Given the description of an element on the screen output the (x, y) to click on. 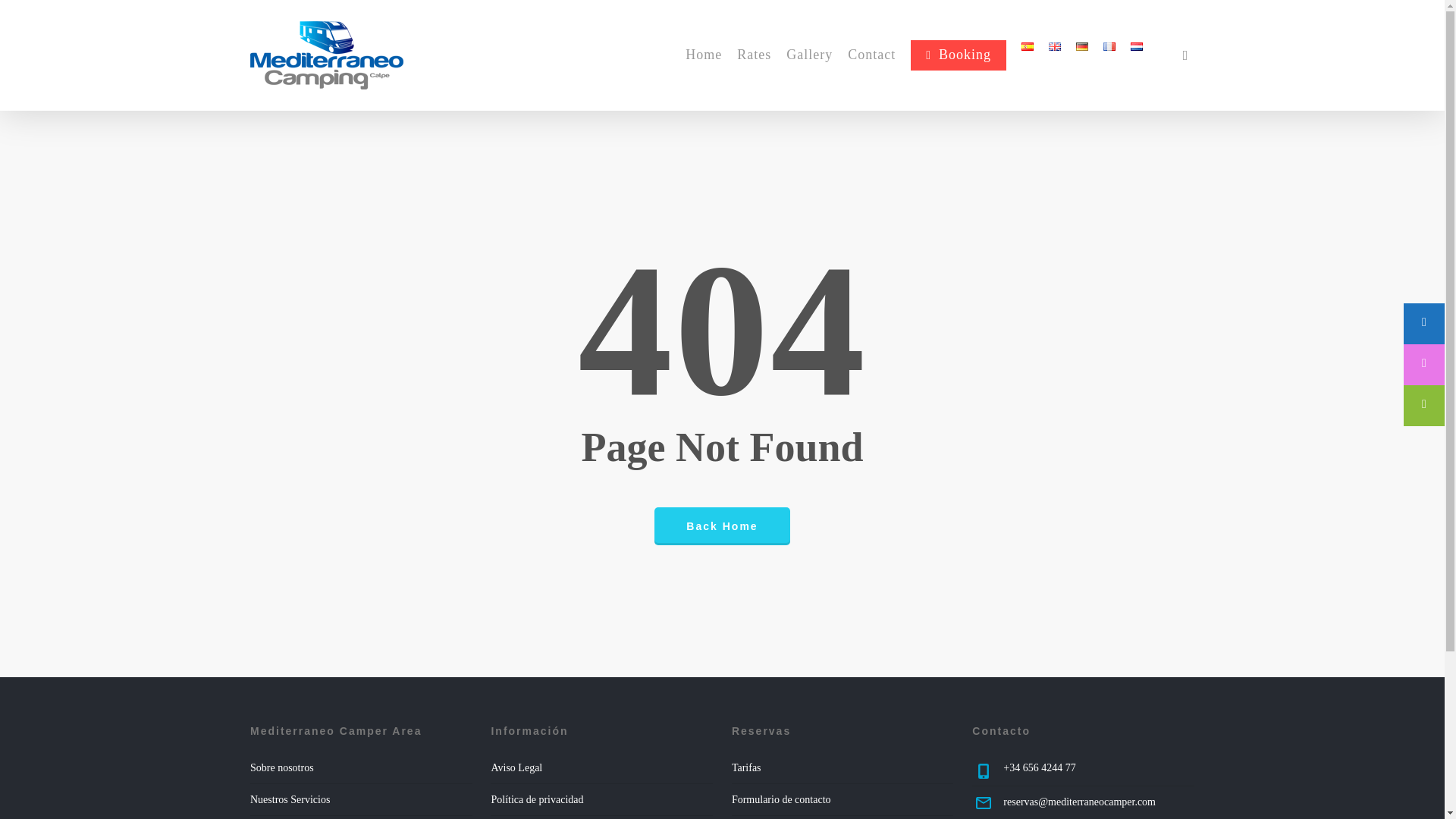
Nuestros Servicios (290, 799)
Aviso Legal (515, 767)
Formulario de contacto (781, 799)
Rates (753, 54)
Home (703, 54)
Back Home (721, 525)
Sobre nosotros (282, 767)
Gallery (809, 54)
Tarifas (746, 767)
Contact (871, 54)
